Given the description of an element on the screen output the (x, y) to click on. 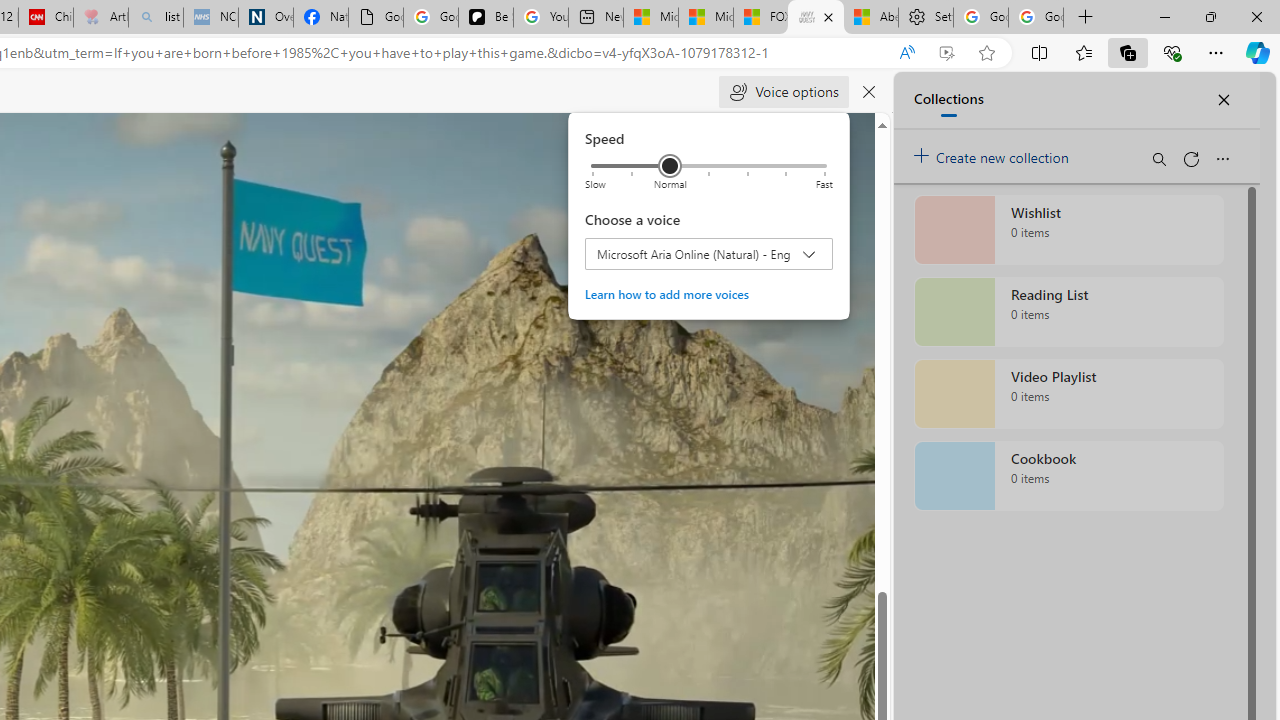
Navy Quest (815, 17)
Be Smart | creating Science videos | Patreon (486, 17)
